Given the description of an element on the screen output the (x, y) to click on. 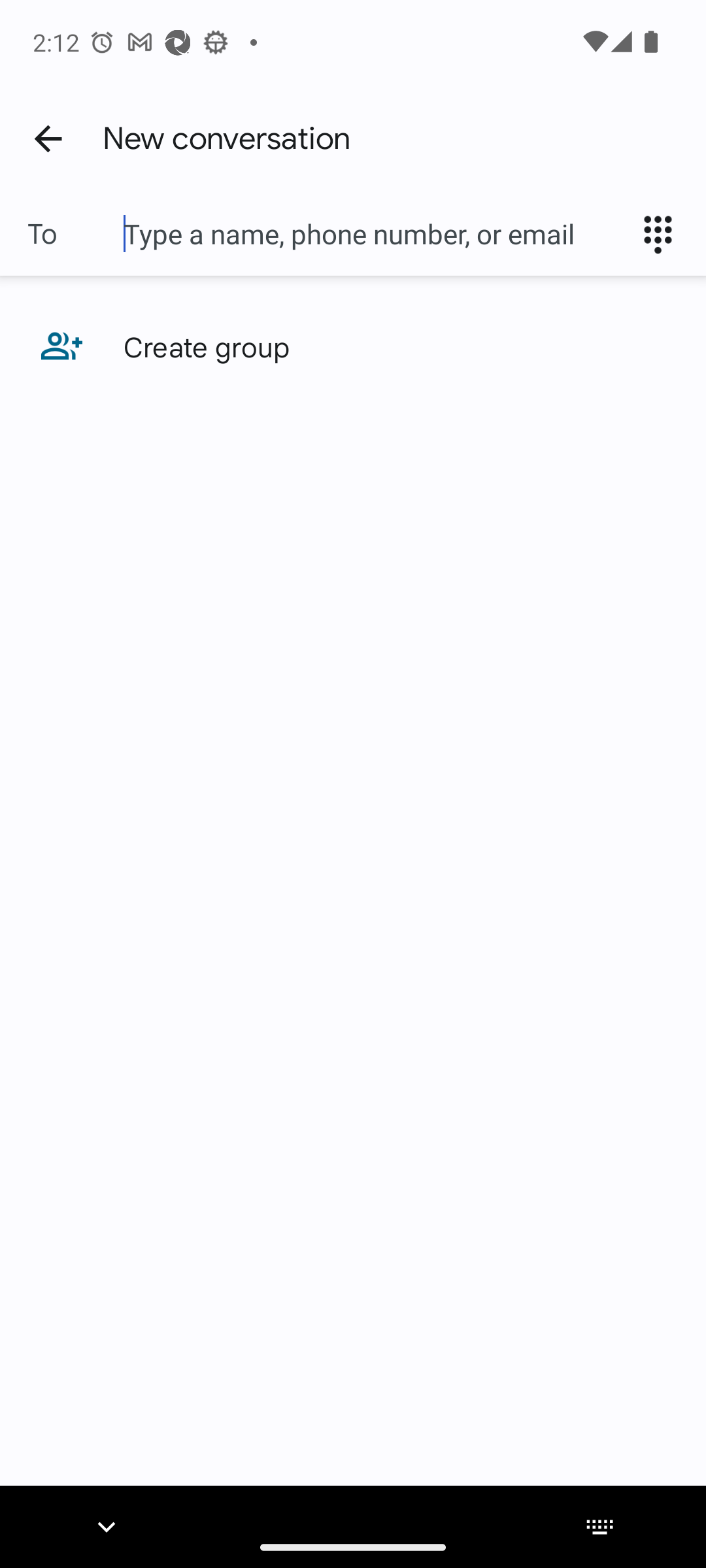
Navigate up (48, 137)
Type a name, phone number, or email (373, 233)
Switch between entering text and numbers (664, 233)
Create group (353, 346)
